Given the description of an element on the screen output the (x, y) to click on. 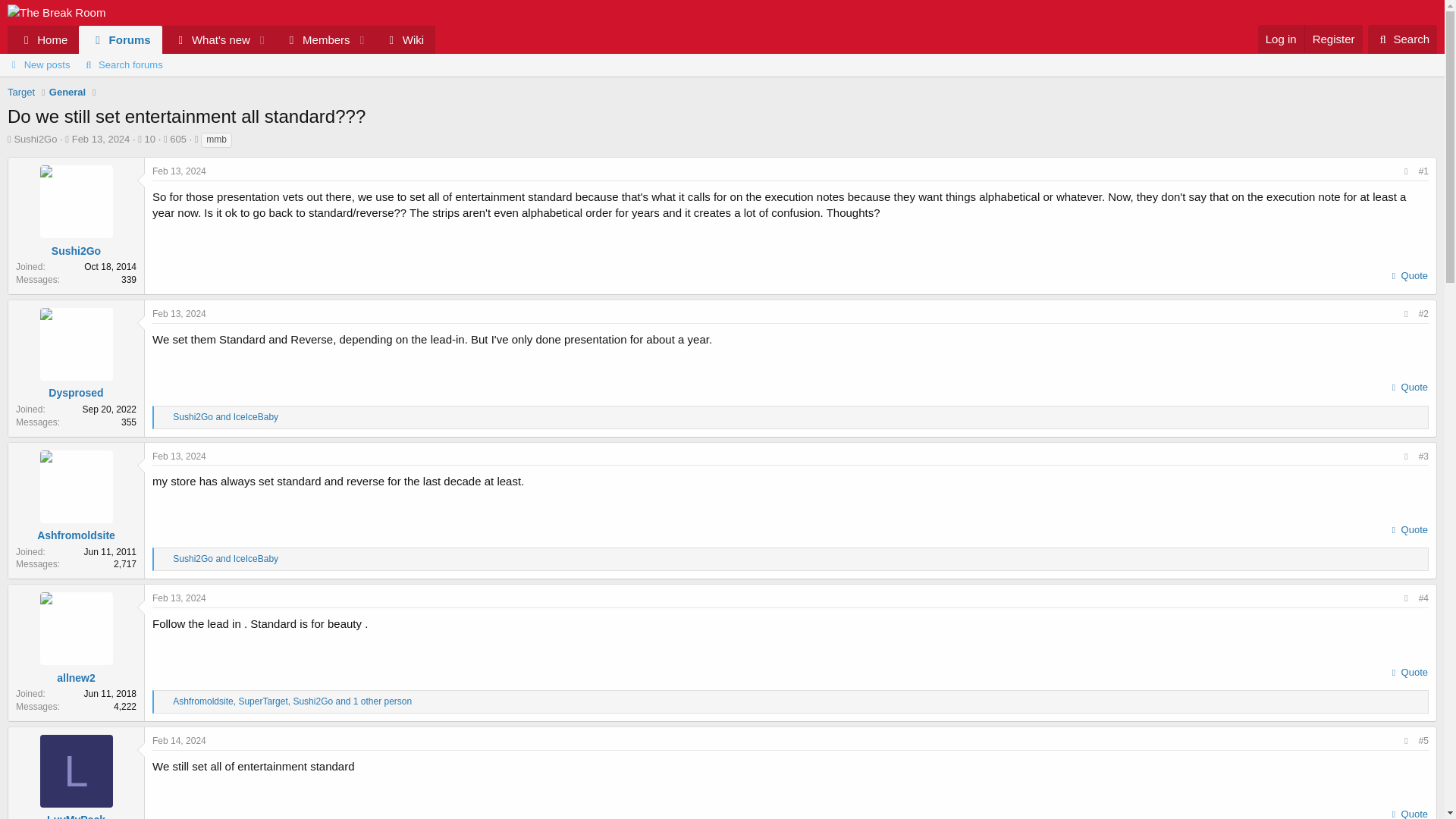
What's new (206, 39)
Search (1402, 39)
Reply, quoting this message (1408, 529)
Feb 13, 2024 (179, 171)
Replies (145, 138)
Wiki (403, 39)
Reply, quoting this message (1408, 275)
Feb 13, 2024 at 10:24 PM (179, 597)
Forums (119, 39)
New posts (38, 65)
